Given the description of an element on the screen output the (x, y) to click on. 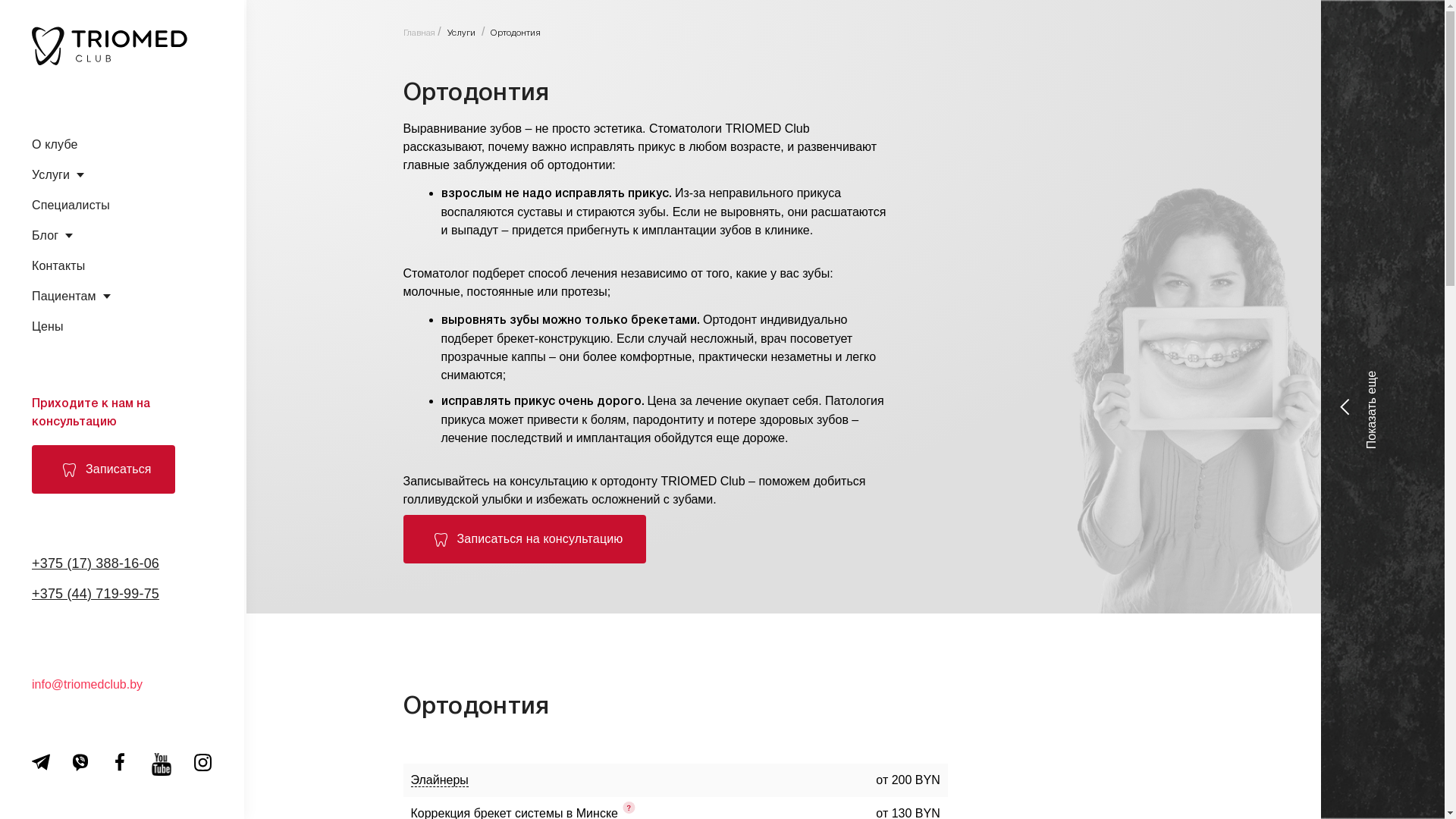
info@triomedclub.by Element type: text (86, 683)
+375 (44) 719-99-75 Element type: text (95, 593)
+375 (17) 388-16-06 Element type: text (95, 563)
